Given the description of an element on the screen output the (x, y) to click on. 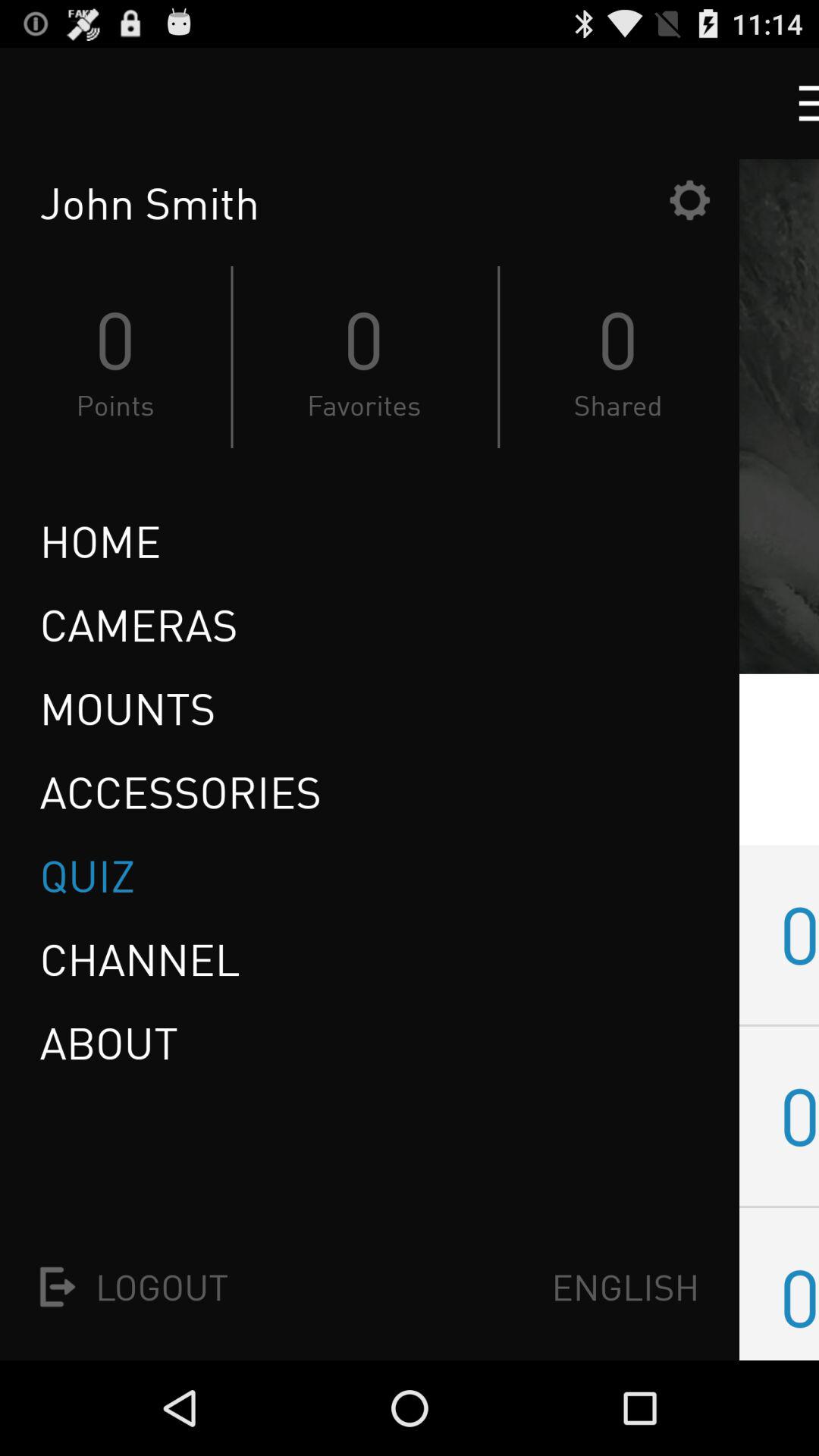
choose the icon below the cameras (127, 708)
